Given the description of an element on the screen output the (x, y) to click on. 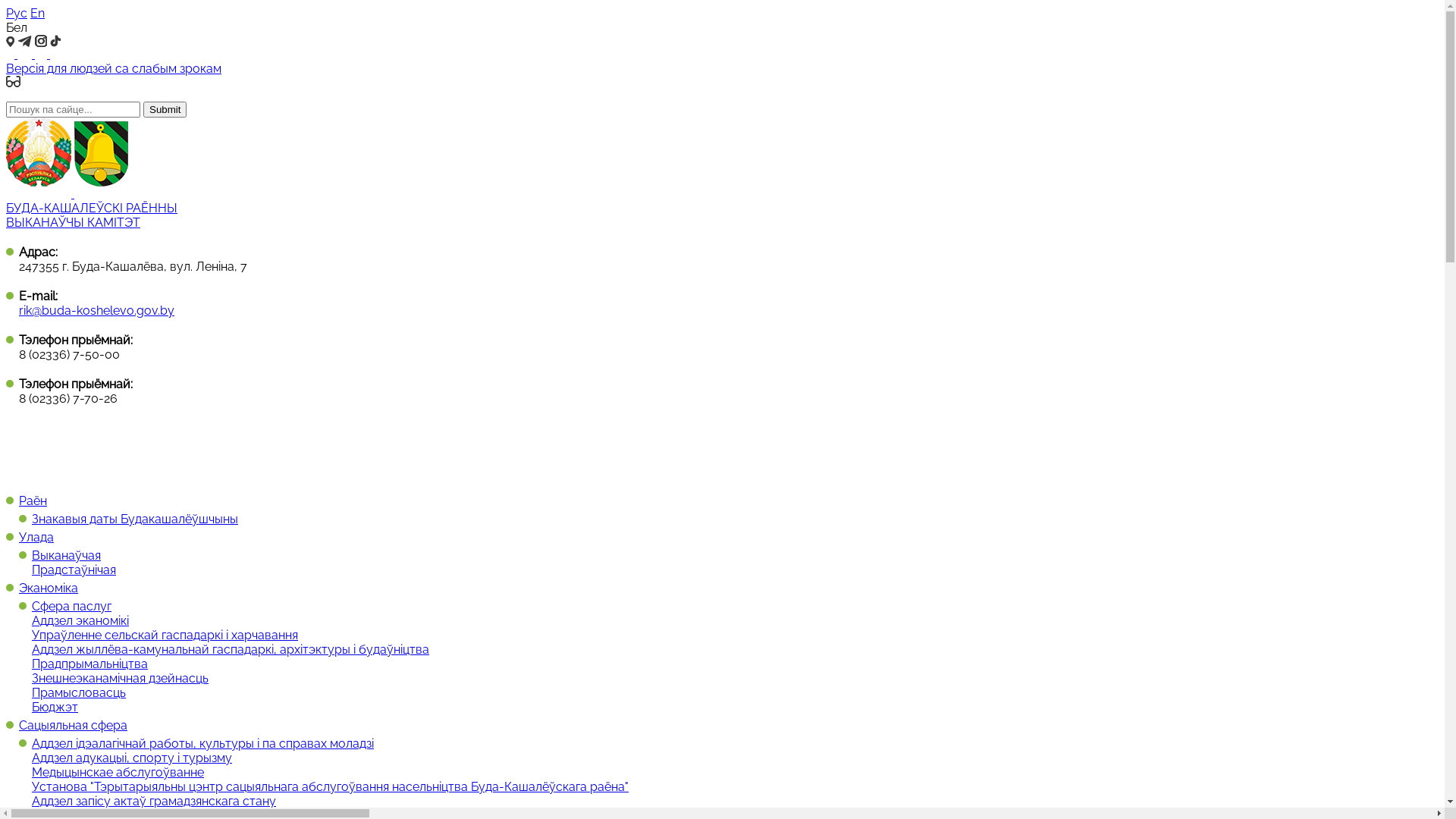
En Element type: text (37, 13)
tik tok Element type: hover (55, 40)
tik tok Element type: hover (55, 54)
instagram Element type: hover (40, 40)
rik@buda-koshelevo.gov.by Element type: text (96, 310)
telegram Element type: hover (24, 41)
telegram Element type: hover (25, 54)
instagram Element type: hover (42, 54)
